Given the description of an element on the screen output the (x, y) to click on. 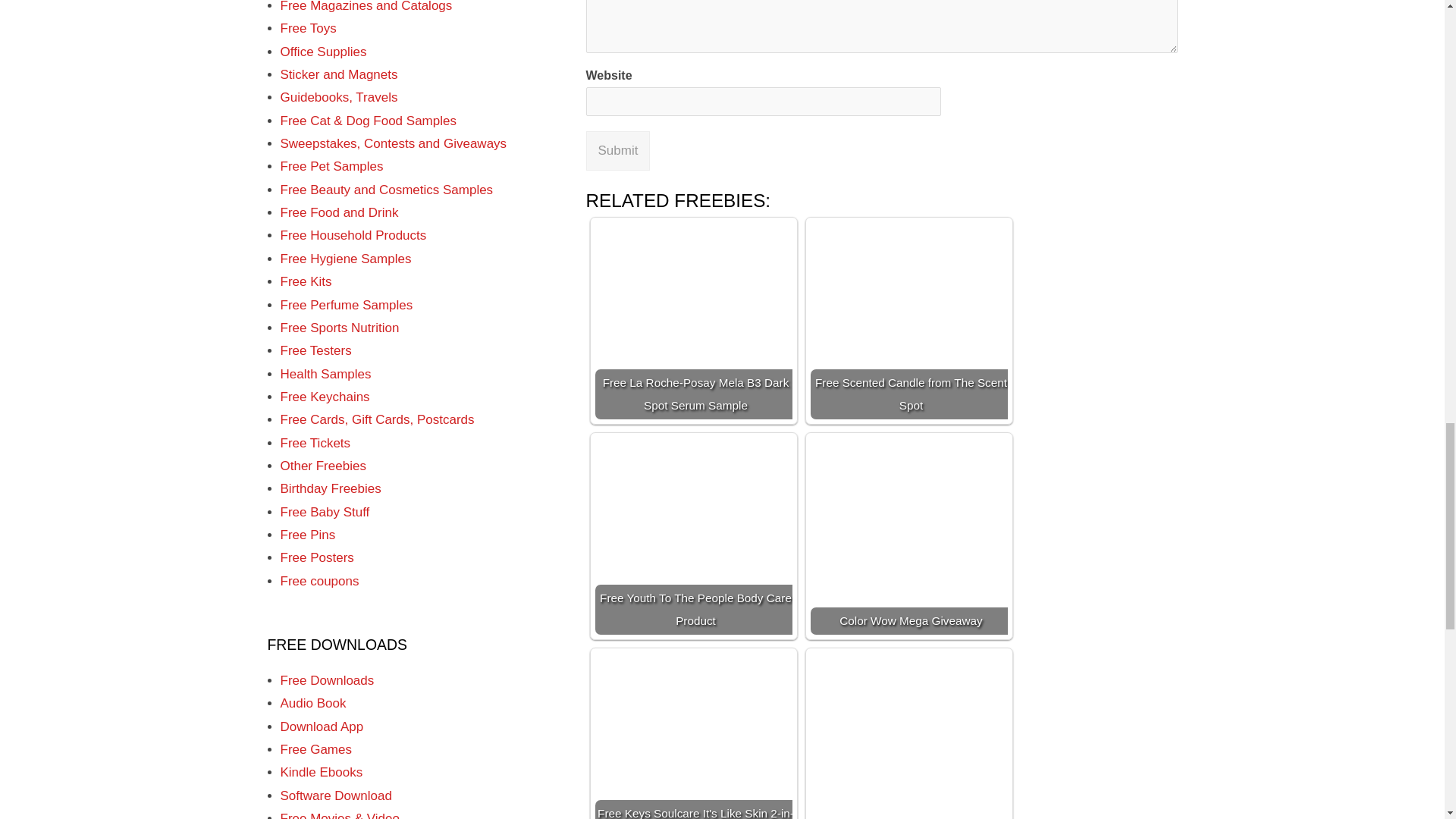
Color Wow Mega Giveaway (908, 535)
USB Flash (311, 20)
Free La Roche-Posay Mela B3 Dark Spot Serum Sample (693, 320)
Free Scented Candle from The Scent Spot (908, 320)
Free Youth To The People Body Care Product (693, 535)
Submit (617, 150)
Free Scented Candle from The Scent Spot (908, 320)
Free La Roche-Posay Mela B3 Dark Spot Serum Sample (693, 320)
Free Accessories (329, 2)
Free Books (313, 65)
Color Wow Mega Giveaway (908, 535)
Free Youth To The People Body Care Product (693, 535)
